Given the description of an element on the screen output the (x, y) to click on. 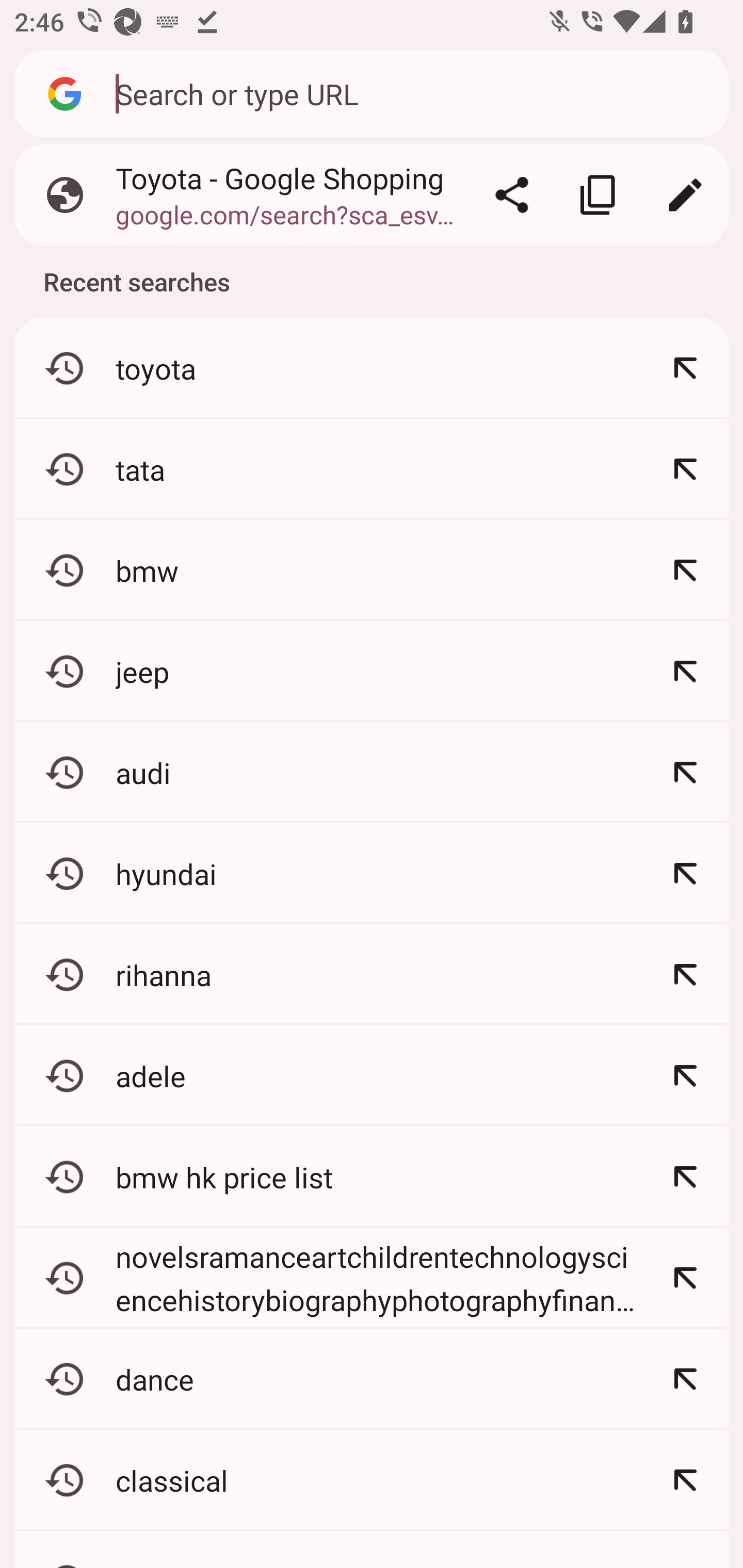
Search or type URL (410, 92)
Share… (511, 195)
Copy link (598, 195)
Edit (684, 195)
toyota Refine: toyota (371, 368)
Refine: toyota (684, 368)
tata Refine: tata (371, 469)
Refine: tata (684, 469)
bmw Refine: bmw (371, 570)
Refine: bmw (684, 570)
jeep Refine: jeep (371, 671)
Refine: jeep (684, 671)
audi Refine: audi (371, 772)
Refine: audi (684, 772)
hyundai Refine: hyundai (371, 873)
Refine: hyundai (684, 873)
rihanna Refine: rihanna (371, 974)
Refine: rihanna (684, 974)
adele Refine: adele (371, 1075)
Refine: adele (684, 1075)
bmw hk price list Refine: bmw hk price list (371, 1176)
Refine: bmw hk price list (684, 1176)
dance Refine: dance (371, 1379)
Refine: dance (684, 1379)
classical Refine: classical (371, 1480)
Refine: classical (684, 1480)
